Given the description of an element on the screen output the (x, y) to click on. 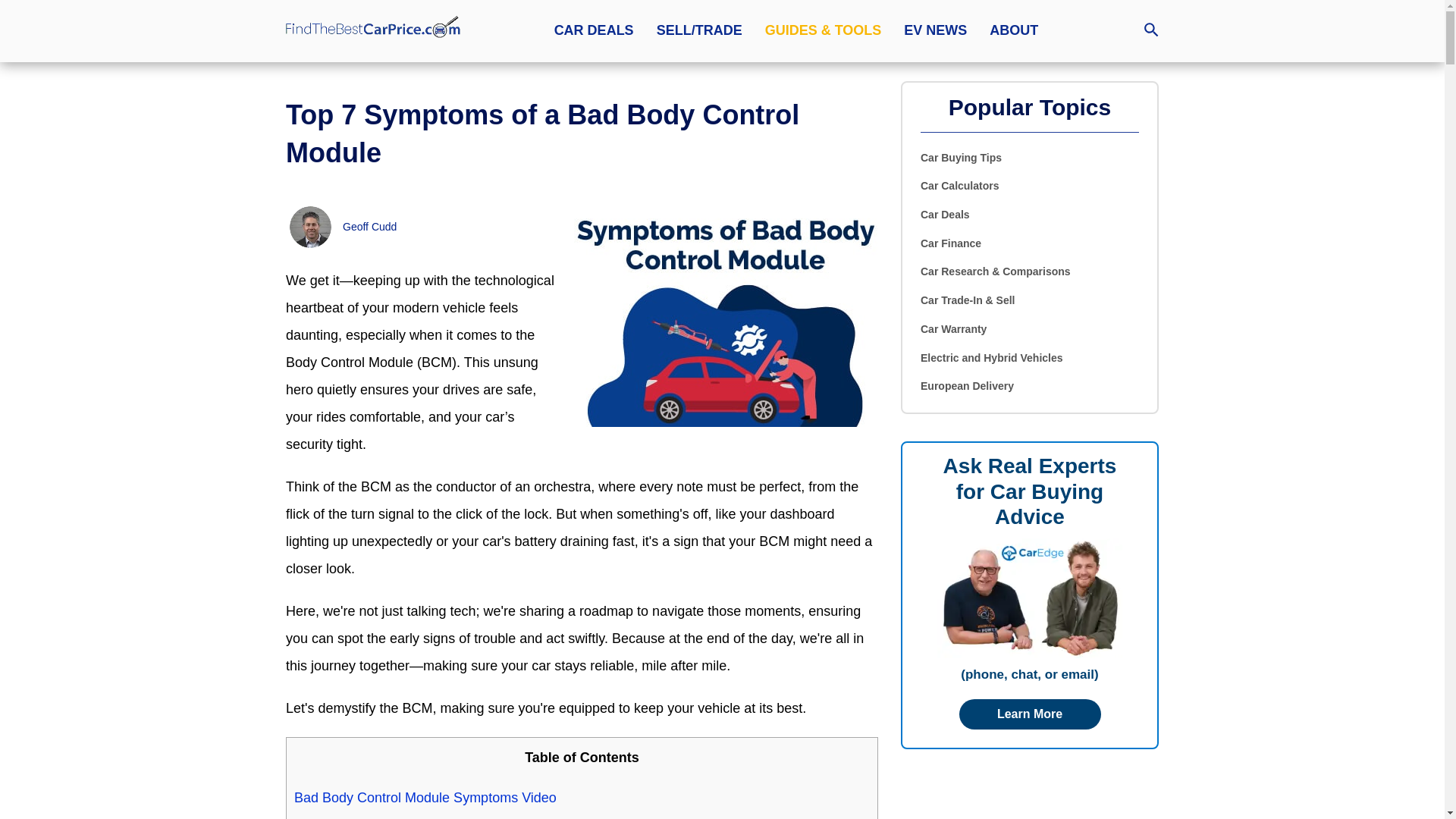
EV NEWS (935, 30)
CAR DEALS (593, 30)
Bad Body Control Module Symptoms Video (425, 797)
ABOUT (1014, 30)
Geoff Cudd (369, 226)
